Given the description of an element on the screen output the (x, y) to click on. 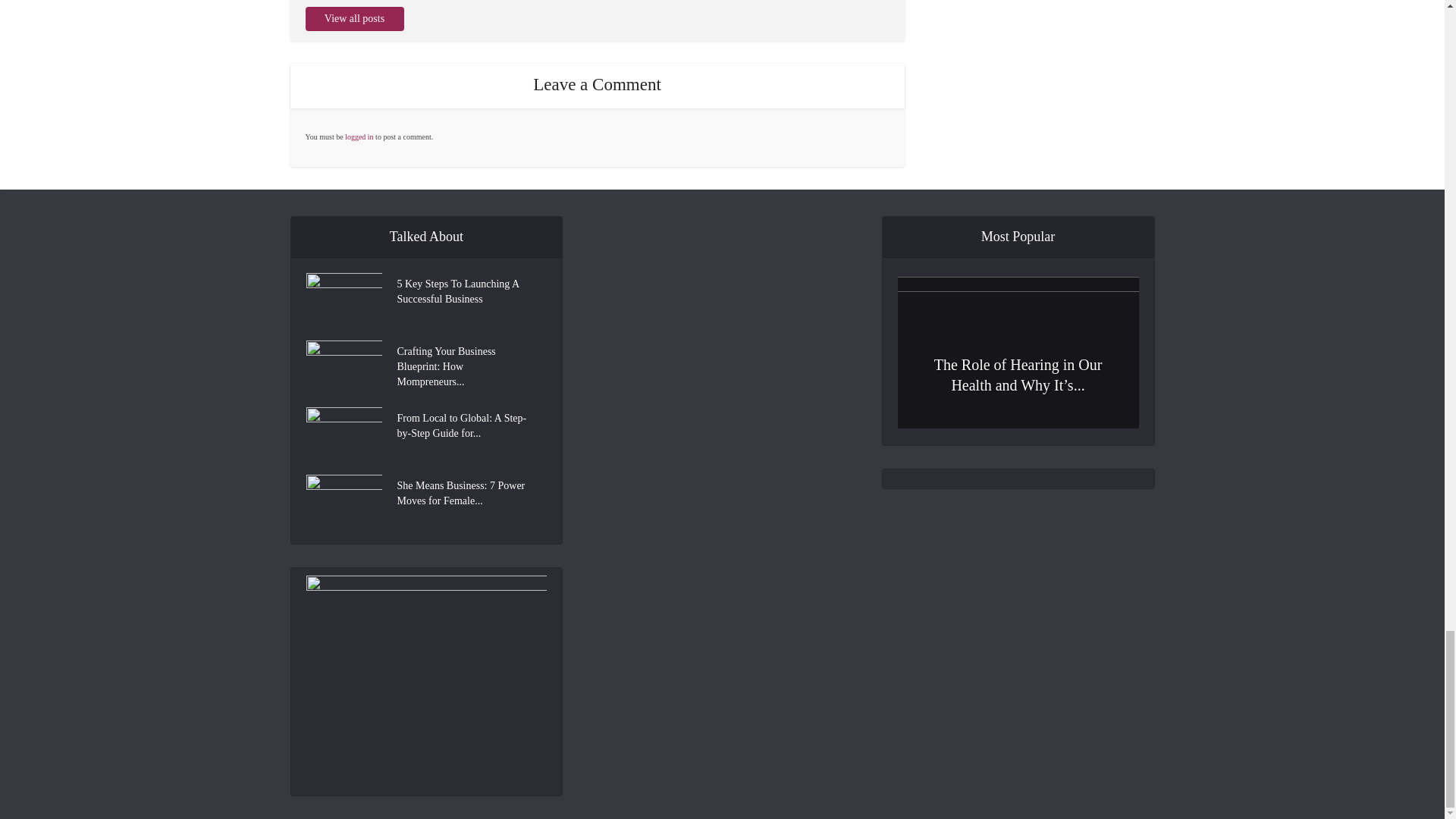
How to Stay Healthy as a Busy Mom (1018, 579)
How to Stay Healthy as a Busy Mom (1018, 580)
